Given the description of an element on the screen output the (x, y) to click on. 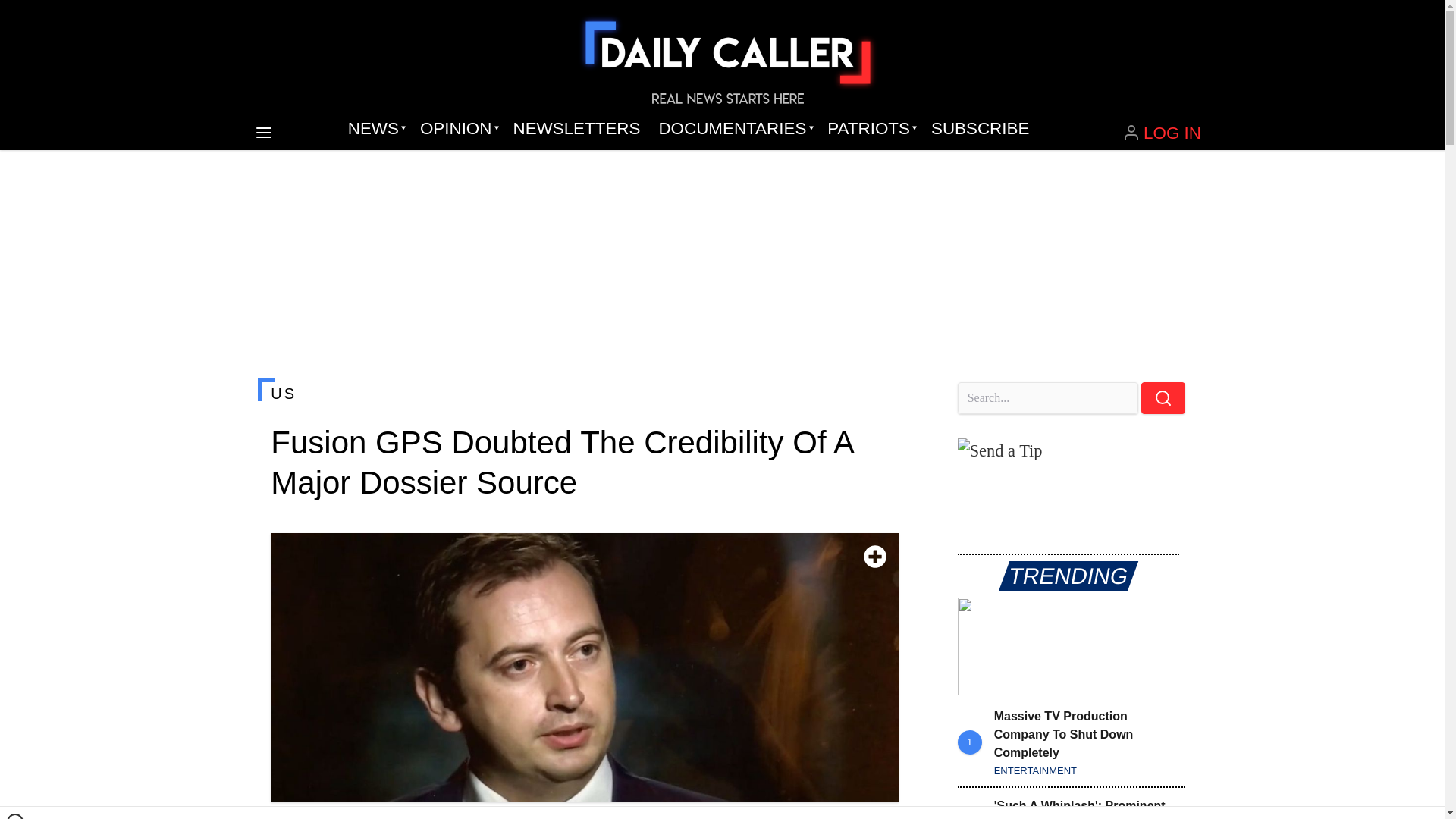
Close window (14, 816)
DOCUMENTARIES (733, 128)
Toggle fullscreen (874, 556)
Massive TV Production Company To Shut Down Completely (1071, 646)
NEWSLETTERS (576, 128)
OPINION (456, 128)
NEWS (374, 128)
PATRIOTS (869, 128)
SUBSCRIBE (979, 128)
US (584, 393)
